Given the description of an element on the screen output the (x, y) to click on. 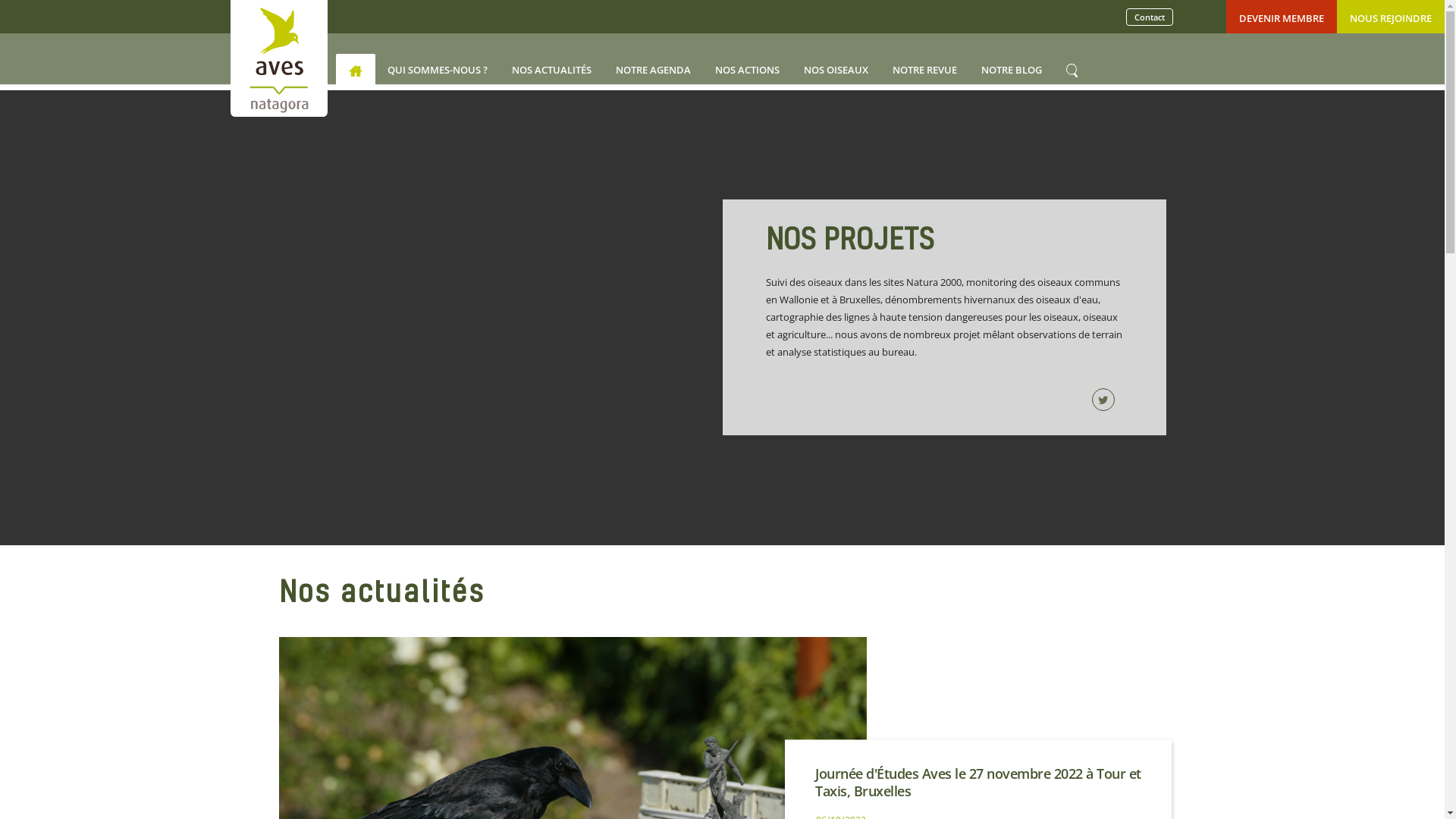
NOTRE BLOG Element type: text (1011, 69)
DEVENIR MEMBRE Element type: text (1281, 18)
NOS ACTIONS Element type: text (746, 69)
Accueil Element type: hover (355, 69)
NOUS REJOINDRE Element type: text (1390, 18)
NOTRE REVUE Element type: text (924, 69)
Twitter Element type: hover (1107, 399)
NOS OISEAUX Element type: text (835, 69)
QUI SOMMES-NOUS ? Element type: text (437, 69)
Contact Element type: text (1149, 16)
NOTRE AGENDA Element type: text (652, 69)
